Given the description of an element on the screen output the (x, y) to click on. 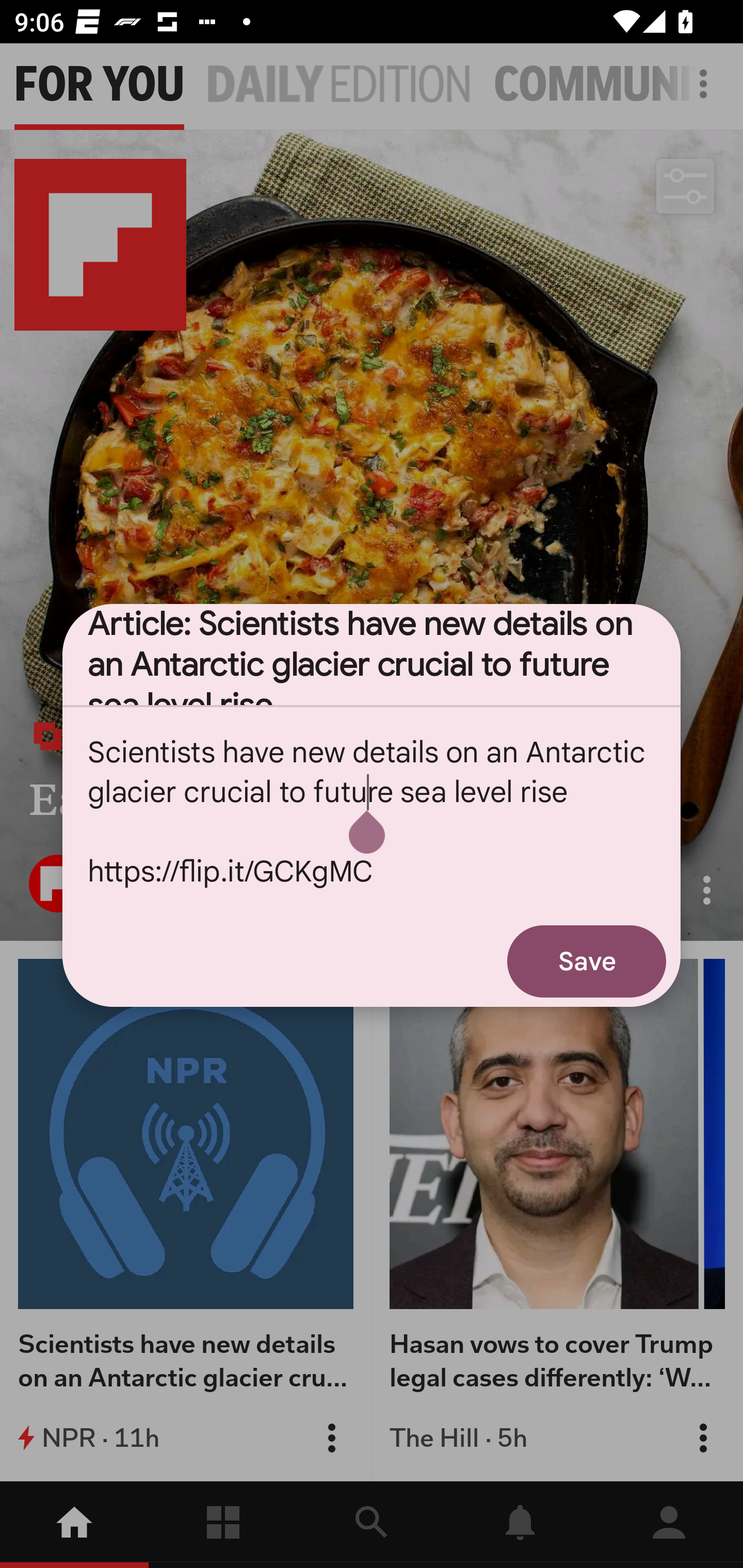
Save (586, 961)
